Given the description of an element on the screen output the (x, y) to click on. 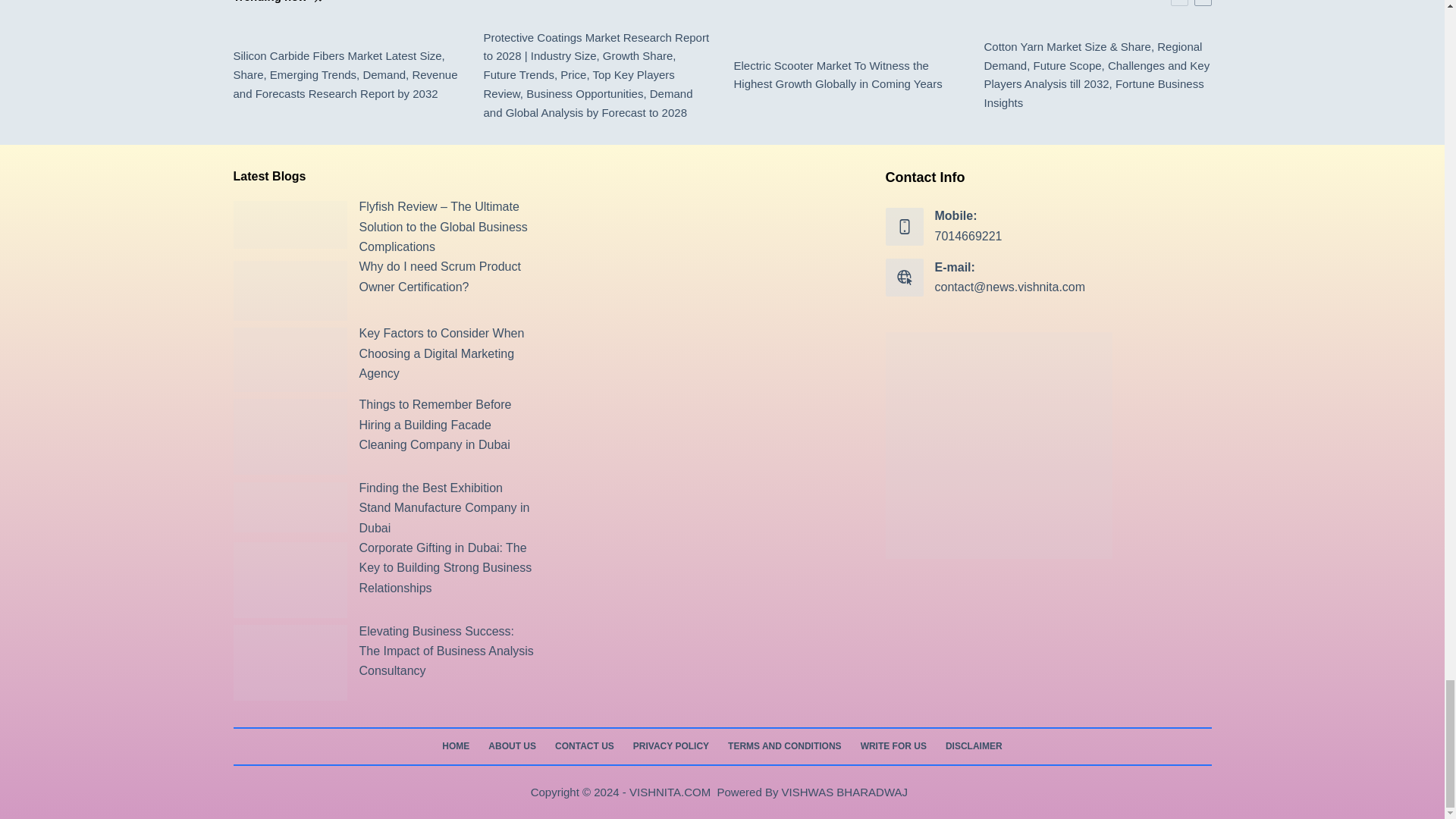
Why do I need Scrum Product Owner Certification? 9 (289, 291)
